Given the description of an element on the screen output the (x, y) to click on. 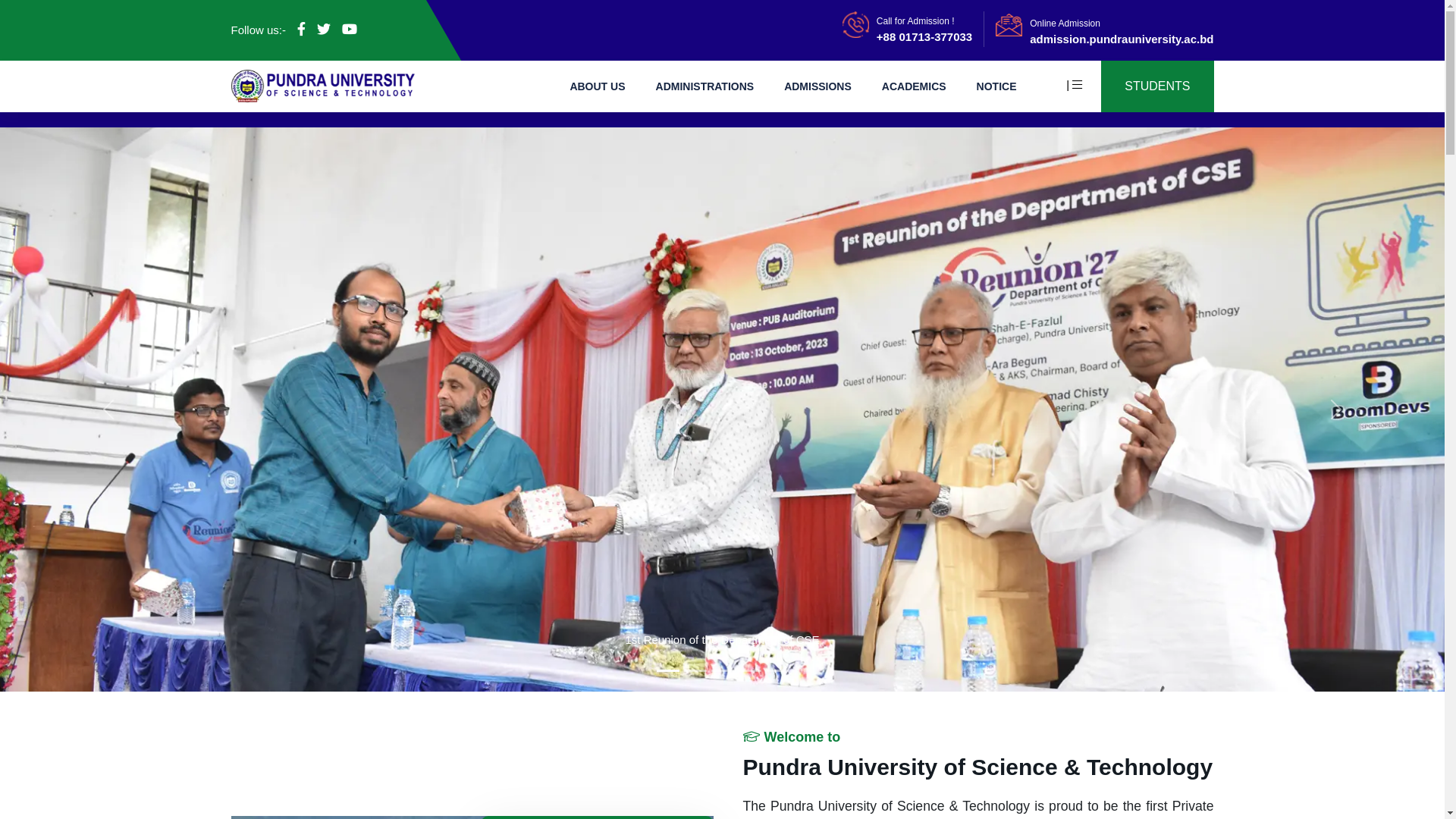
Youtube Element type: hover (349, 29)
Previous Element type: text (108, 409)
ACADEMICS Element type: text (913, 85)
ADMINISTRATIONS Element type: text (704, 85)
+88 01713-377033 Element type: text (924, 36)
admission.pundrauniversity.ac.bd Element type: text (1121, 37)
ADMISSIONS Element type: text (817, 85)
Next Element type: text (1335, 409)
  | Element type: text (1080, 84)
Facebook Element type: hover (301, 29)
STUDENTS Element type: text (1157, 86)
ABOUT US Element type: text (596, 85)
NOTICE Element type: text (996, 85)
Twitter Element type: hover (323, 29)
